Given the description of an element on the screen output the (x, y) to click on. 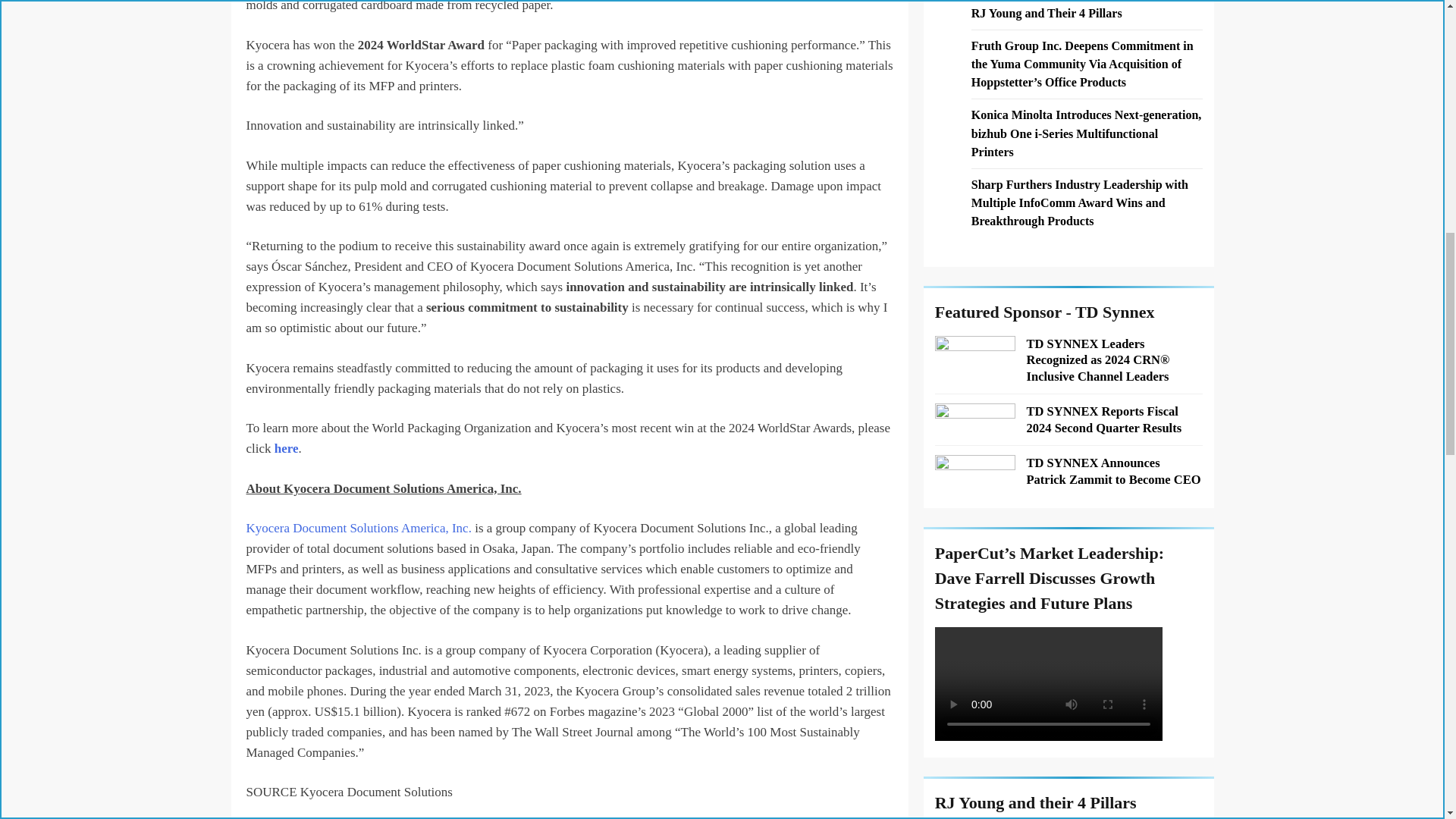
here (286, 448)
Kyocera Document Solutions America, Inc. (358, 527)
